Given the description of an element on the screen output the (x, y) to click on. 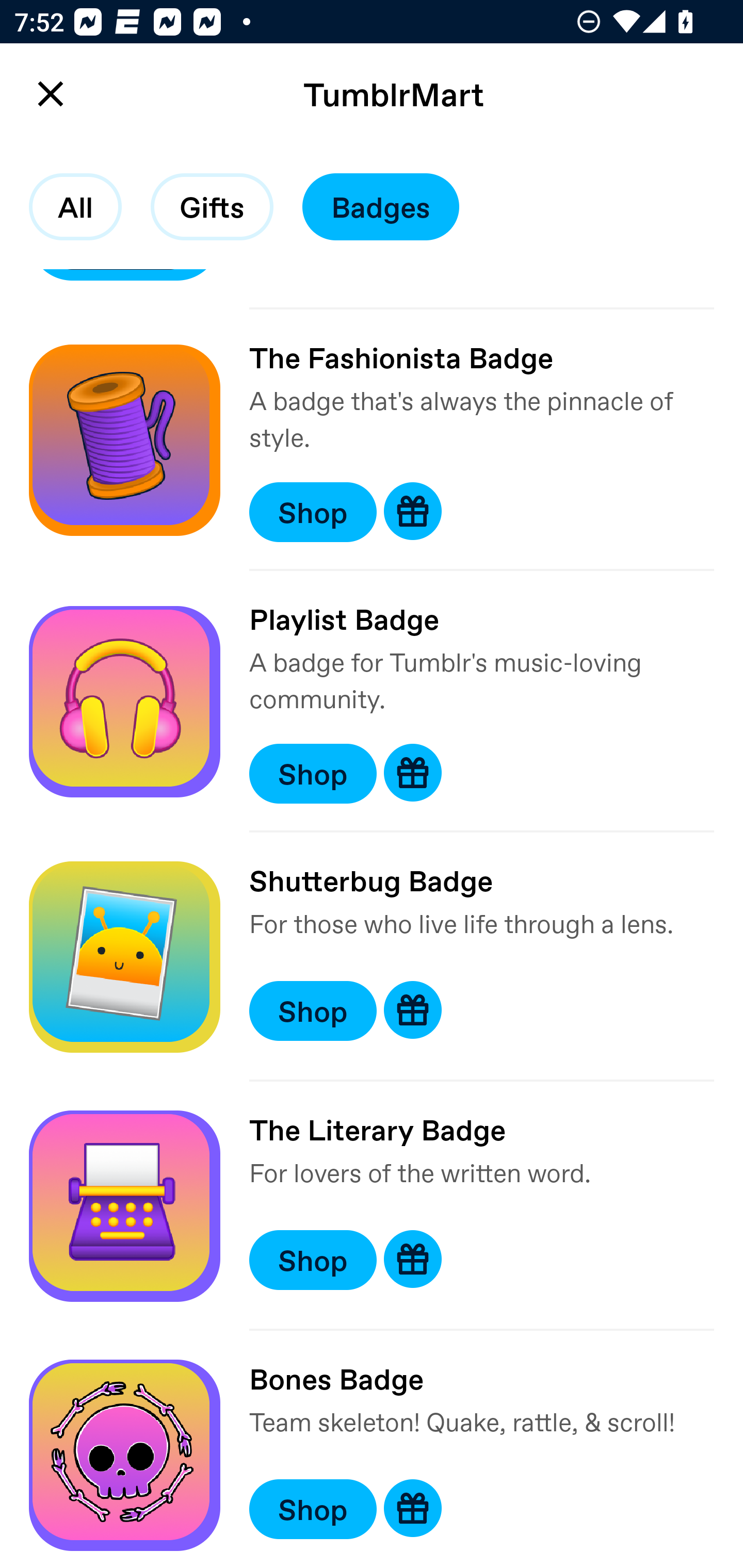
All (74, 206)
Gifts (211, 206)
Badges (380, 206)
Shop (312, 512)
Shop (312, 772)
Shop (312, 1011)
Shop (312, 1260)
Shop (312, 1508)
